Given the description of an element on the screen output the (x, y) to click on. 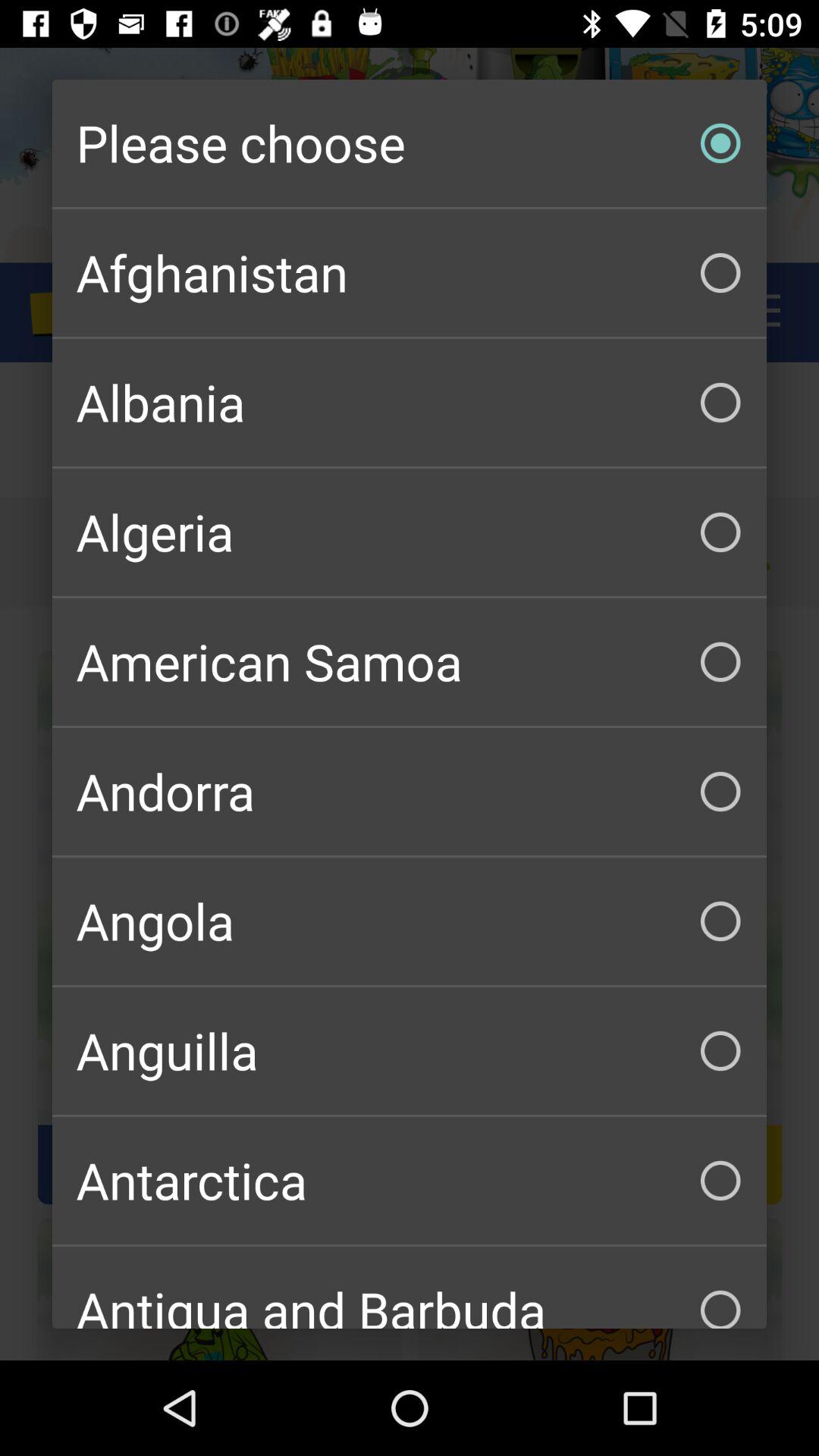
scroll until antigua and barbuda icon (409, 1287)
